Given the description of an element on the screen output the (x, y) to click on. 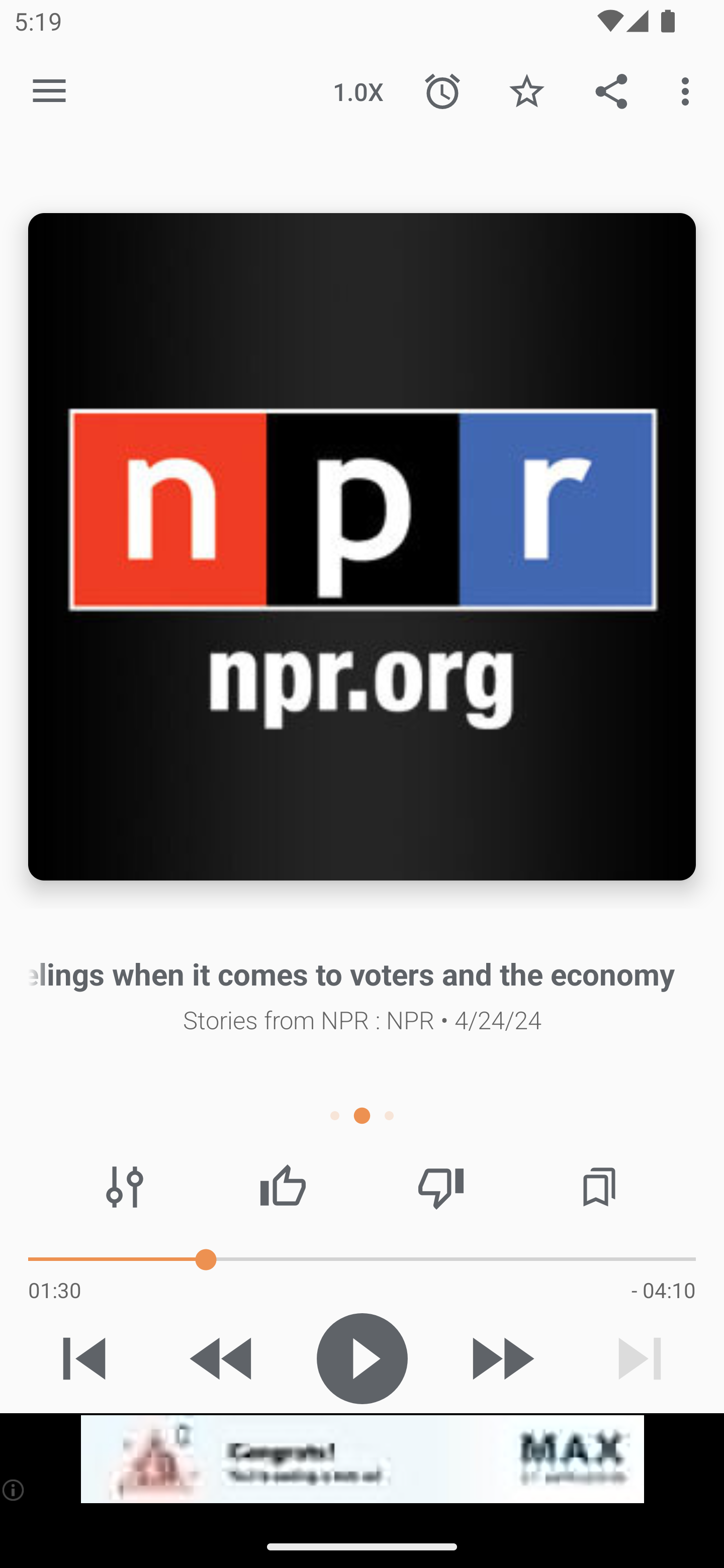
Open navigation sidebar (49, 91)
1.0X (357, 90)
Sleep Timer (442, 90)
Favorite (526, 90)
Share (611, 90)
More options (688, 90)
Episode description (361, 547)
Audio effects (124, 1186)
Thumbs up (283, 1186)
Thumbs down (440, 1186)
Chapters / Bookmarks (598, 1186)
- 04:10 (663, 1289)
Previous track (84, 1358)
Skip 15s backward (222, 1358)
Play / Pause (362, 1358)
Skip 30s forward (500, 1358)
Next track (639, 1358)
app-monetization (362, 1459)
(i) (14, 1489)
